Given the description of an element on the screen output the (x, y) to click on. 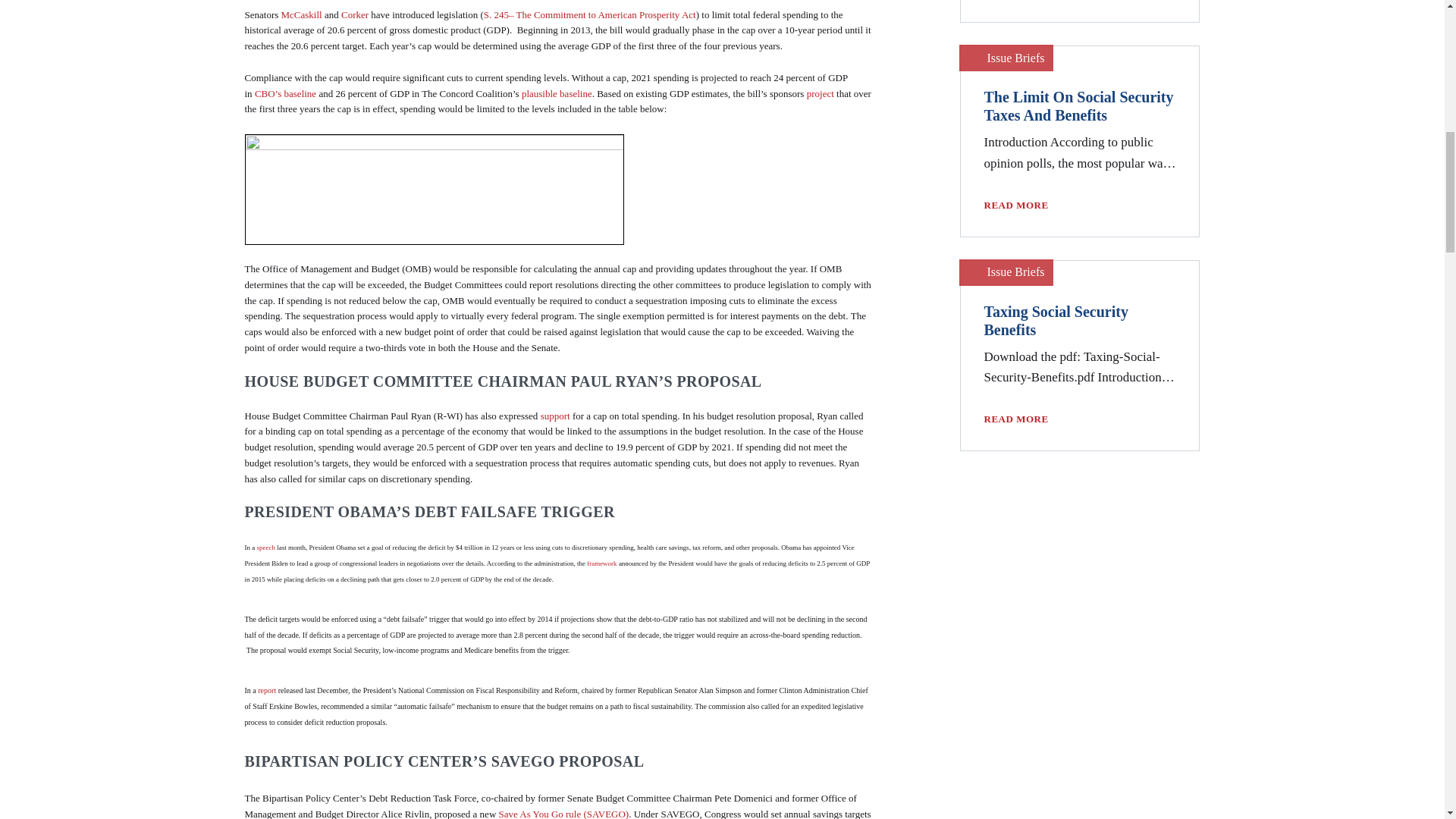
speech (265, 547)
framework (600, 563)
S. 245-- The Commitment to American Prosperity Act (589, 14)
support (555, 415)
CBO's baseline (284, 93)
plausible baseline (556, 93)
project (820, 93)
report (266, 690)
